Given the description of an element on the screen output the (x, y) to click on. 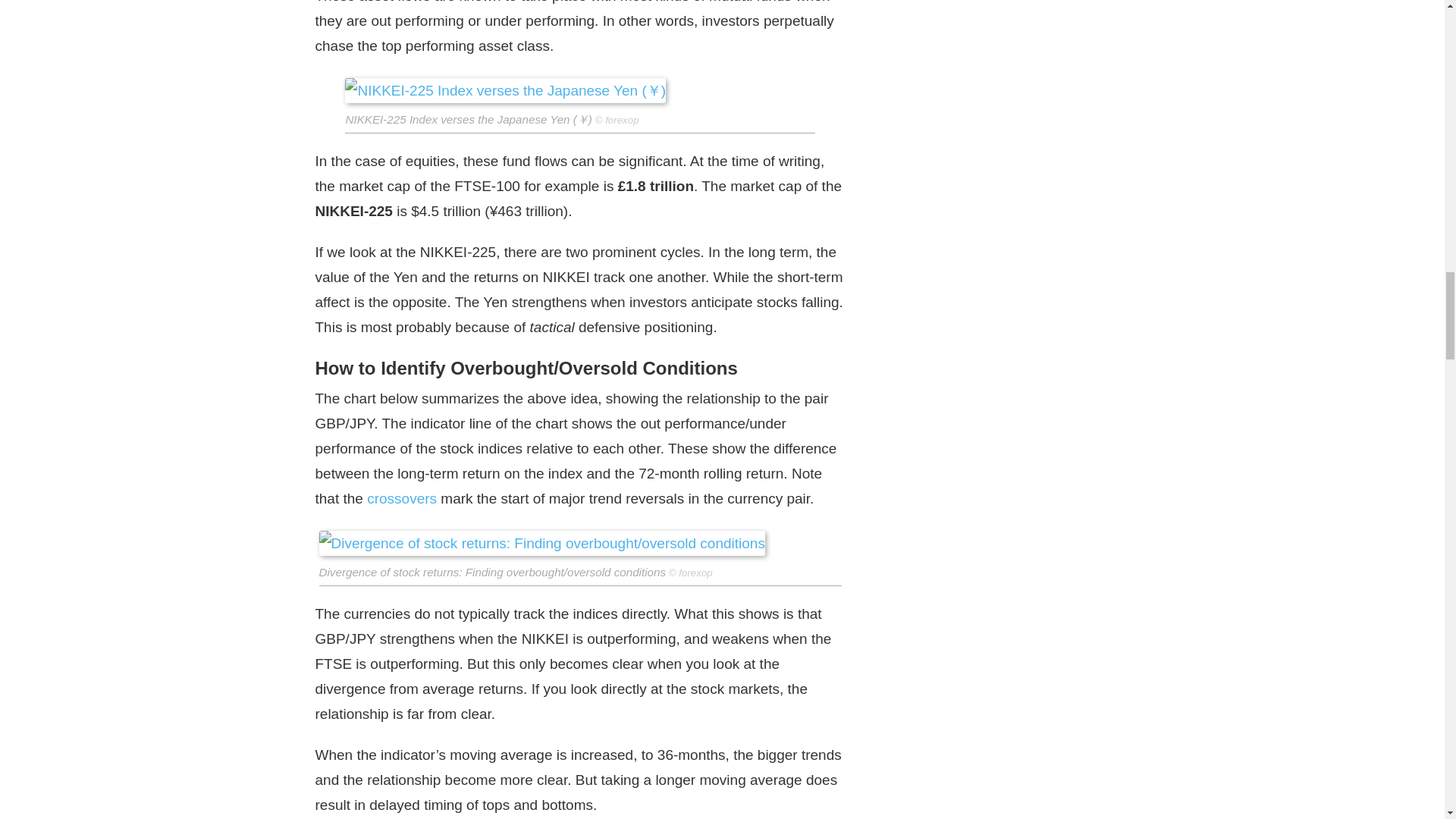
forexop (694, 572)
forexop (622, 119)
crossovers (401, 497)
